Given the description of an element on the screen output the (x, y) to click on. 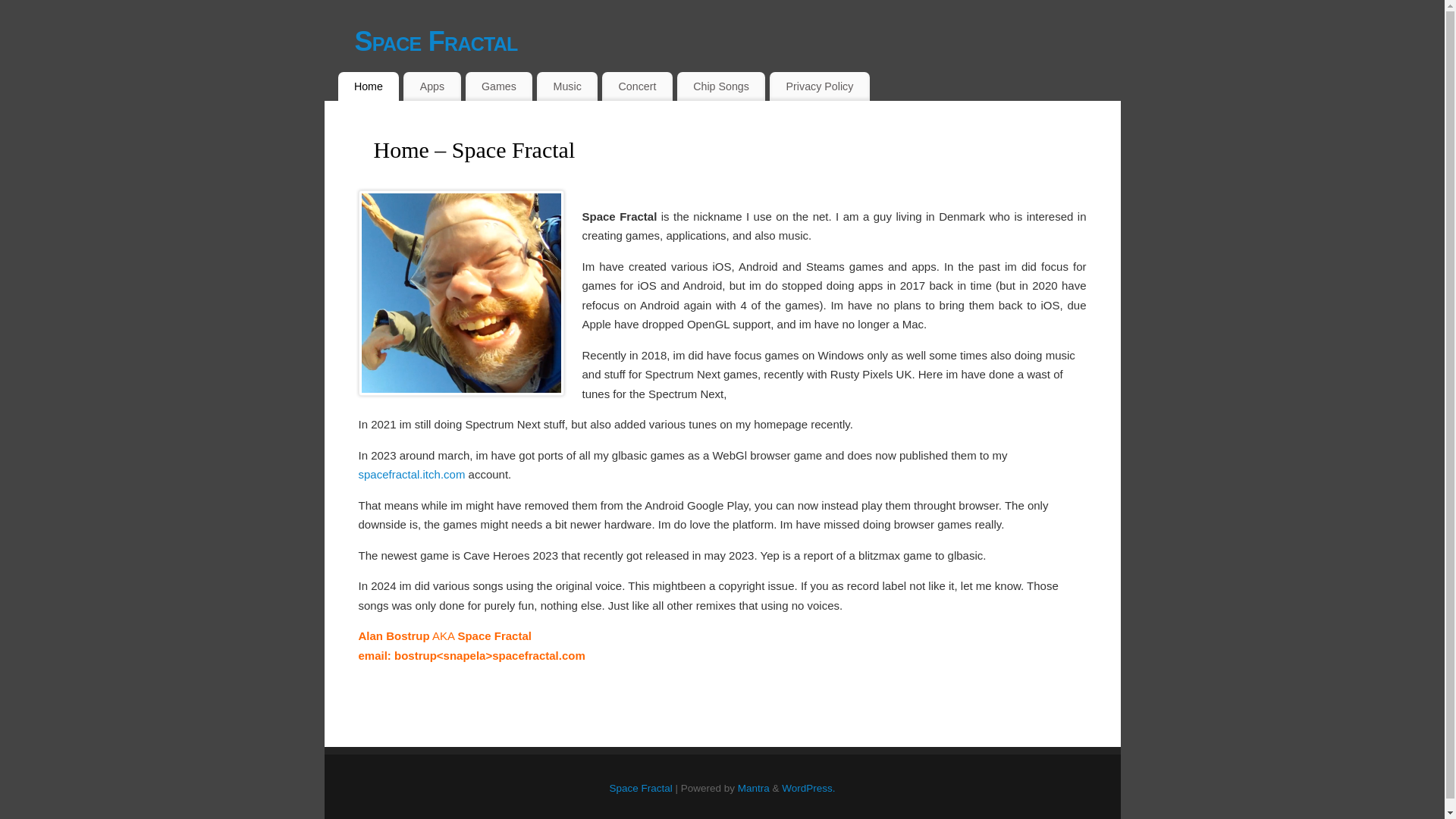
Music (566, 86)
Concert (637, 86)
Semantic Personal Publishing Platform (807, 787)
Space Fractal (738, 41)
Home (367, 86)
Mantra Theme by Cryout Creations (754, 787)
Chip Songs (721, 86)
Games (498, 86)
Space Fractal (738, 41)
Space Fractal (639, 787)
